Given the description of an element on the screen output the (x, y) to click on. 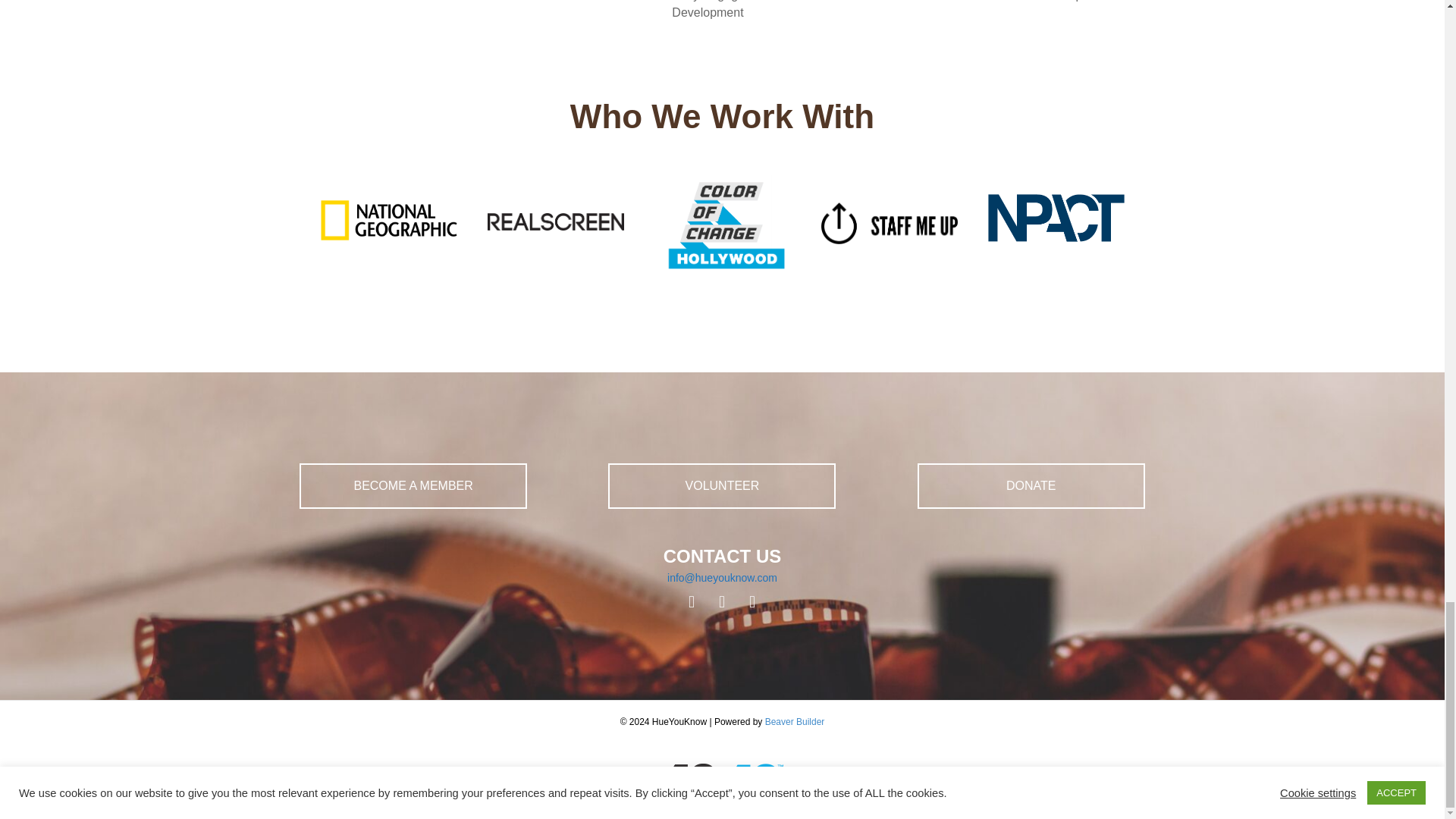
DONATE (1030, 485)
Instagram (752, 601)
npactnavy (1055, 217)
LinkedIn (721, 601)
Real Screen logo-header (554, 221)
logo (888, 223)
National-Geographic-logo (388, 219)
Beaver Builder (795, 721)
Facebook (691, 601)
CONTACT US (722, 556)
COC-Hollywood-Logo (721, 224)
BECOME A MEMBER (413, 485)
VOLUNTEER (721, 485)
